Given the description of an element on the screen output the (x, y) to click on. 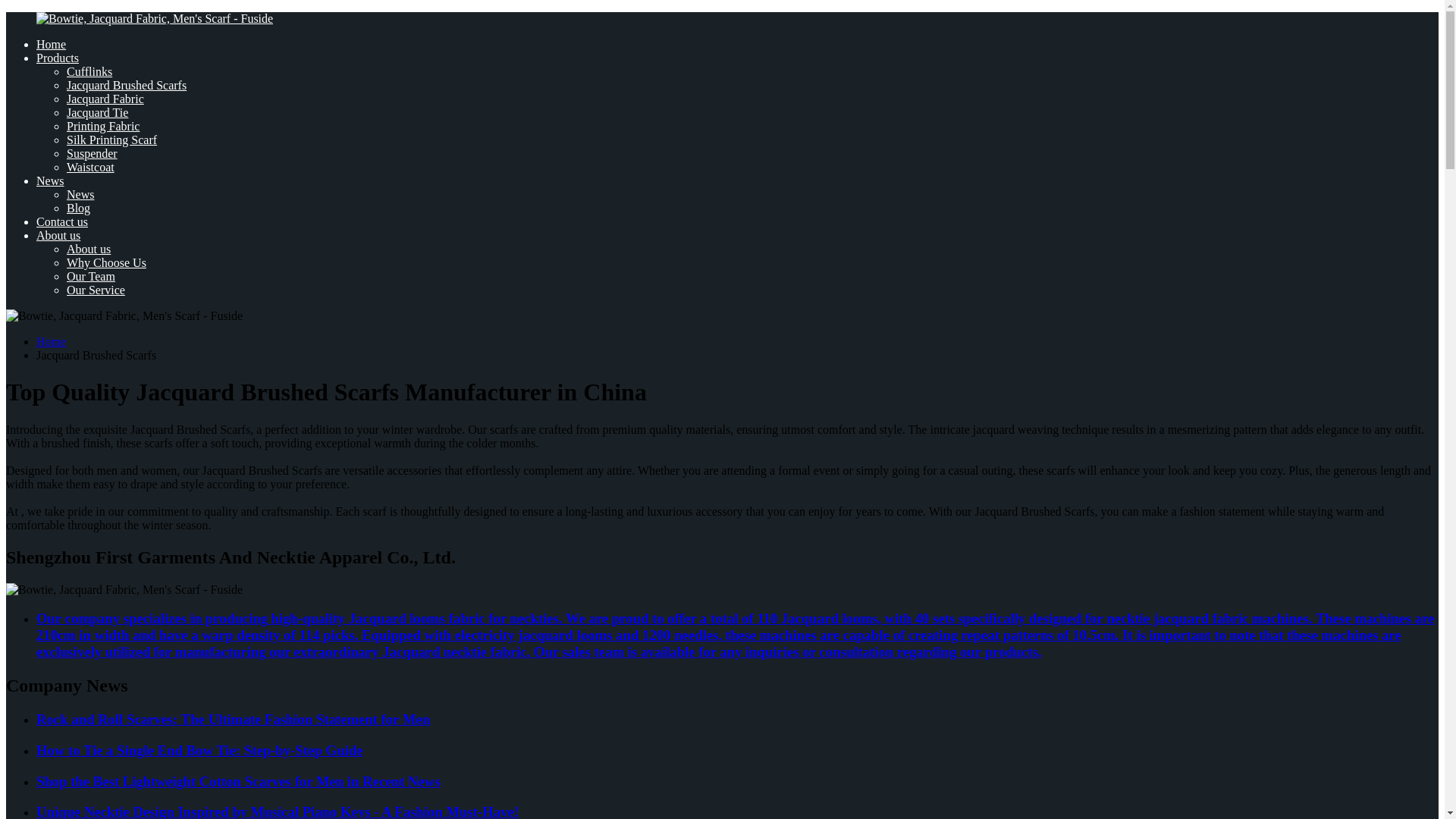
Contact us (61, 221)
Waistcoat (90, 166)
About us (58, 235)
Jacquard Fabric (105, 98)
Jacquard Brushed Scarfs (126, 84)
Why Choose Us (106, 262)
Blog (78, 207)
About us (88, 248)
News (80, 194)
Home (50, 341)
